Given the description of an element on the screen output the (x, y) to click on. 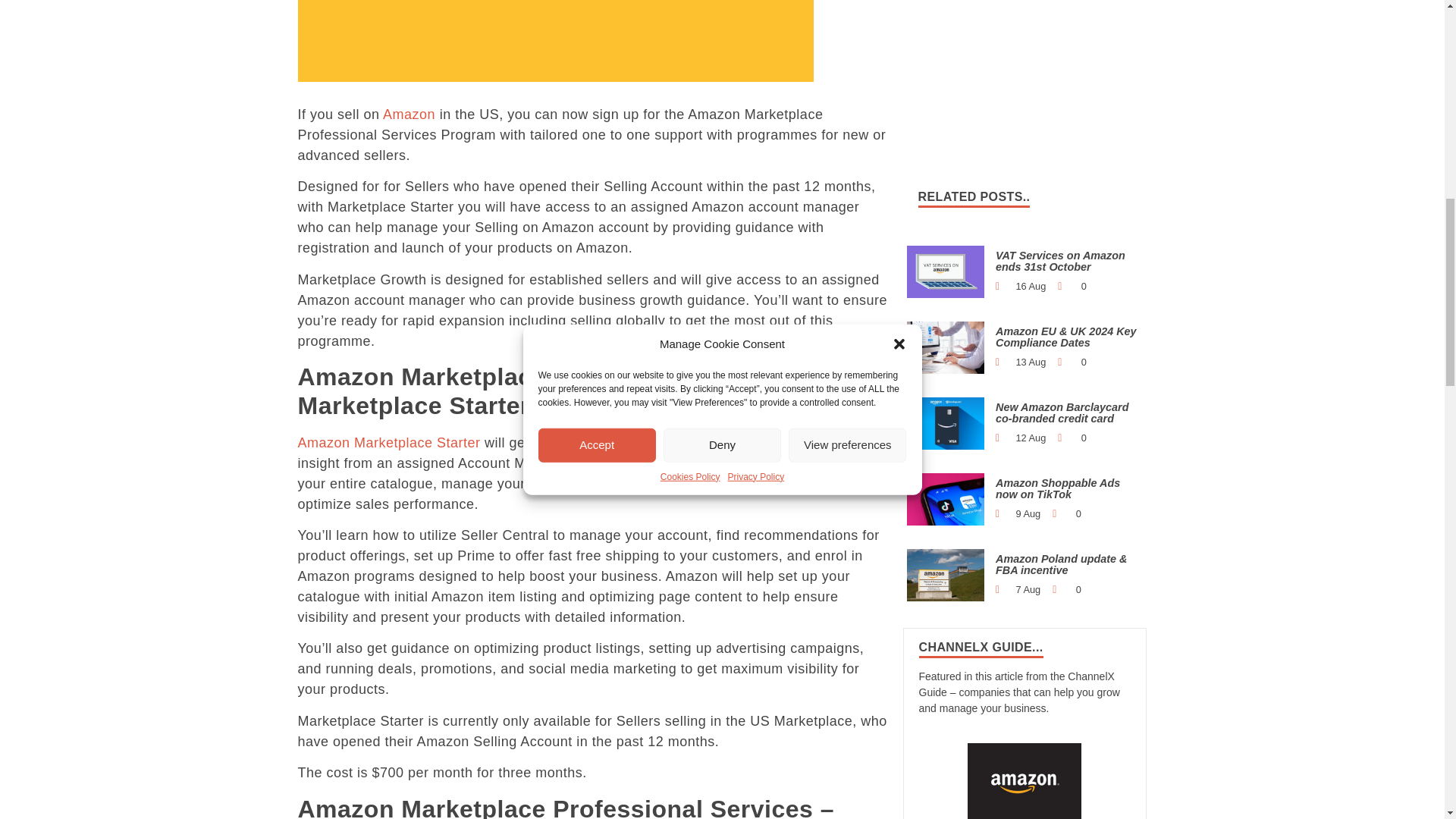
New Amazon Barclaycard co-branded credit card (946, 422)
Amazon Shoppable Ads now on TikTok (946, 498)
VAT-Services-on-Amazon-E50-country-reg-service (946, 271)
